Given the description of an element on the screen output the (x, y) to click on. 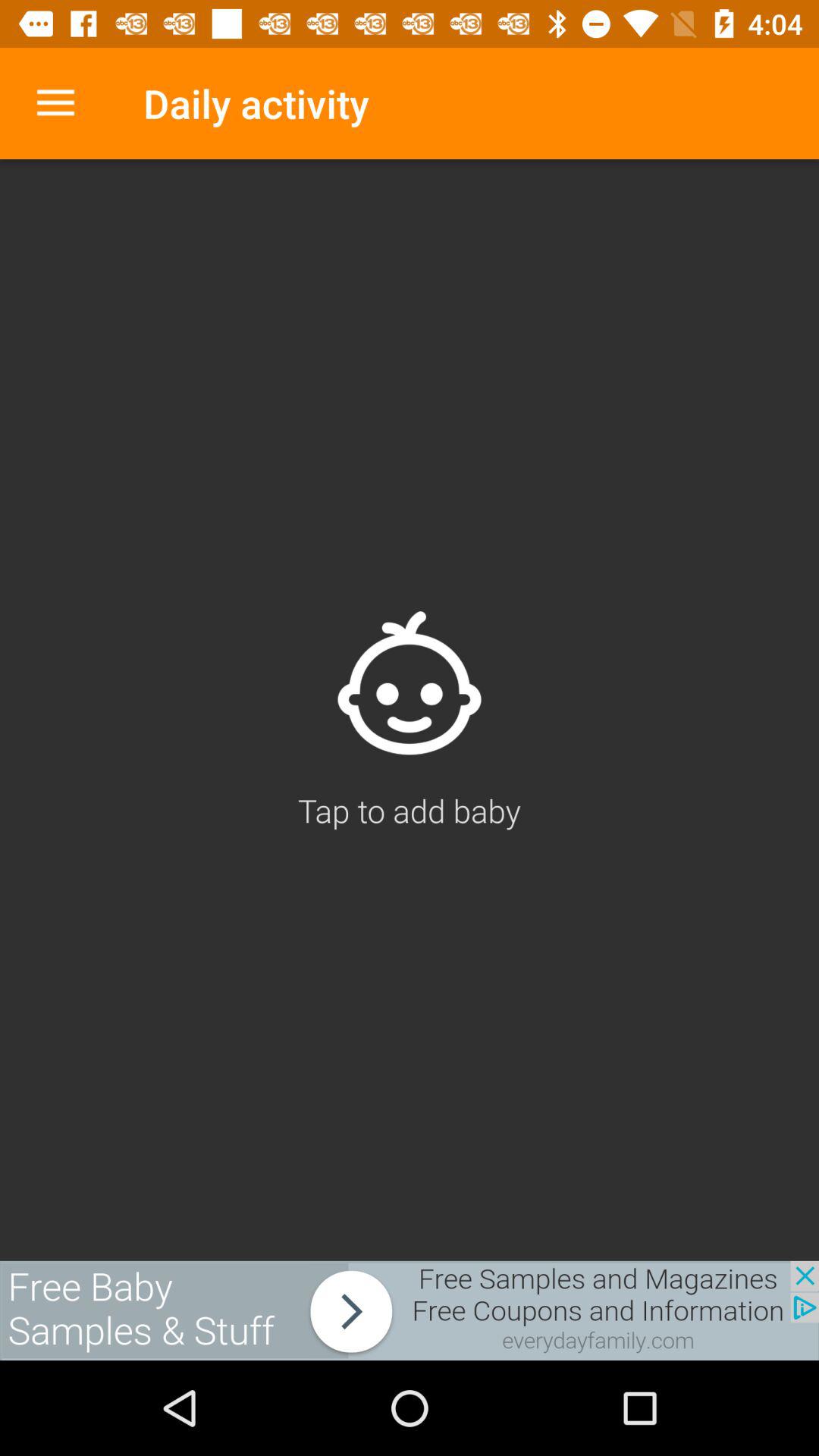
click on advertisement for free baby samples (409, 1310)
